Given the description of an element on the screen output the (x, y) to click on. 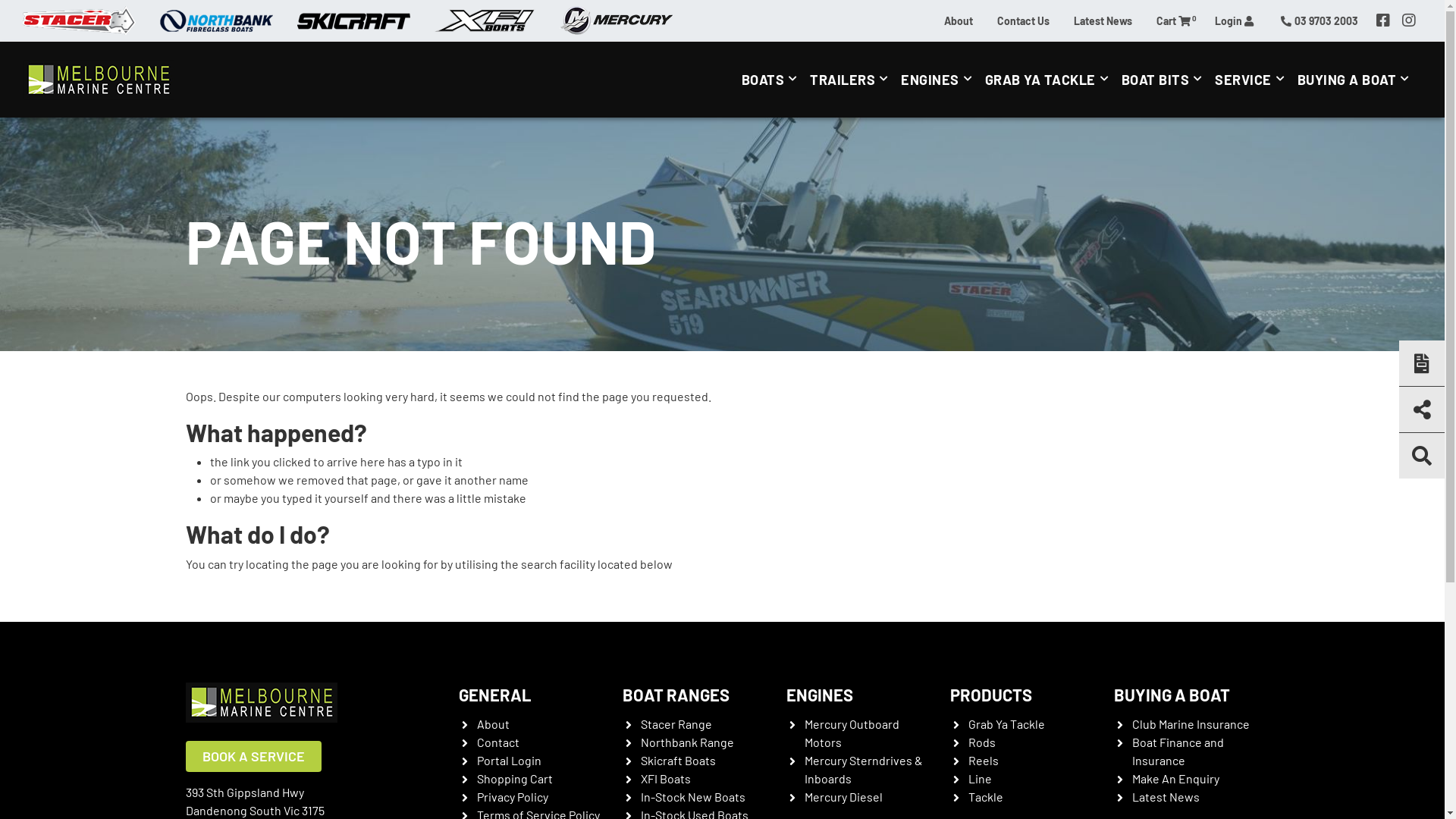
BOAT RANGES Element type: text (674, 694)
About Element type: text (492, 723)
Contact Us Element type: text (1023, 20)
BUYING A BOAT Element type: text (1356, 79)
Latest News Element type: text (1164, 796)
ENGINES Element type: text (818, 694)
Privacy Policy Element type: text (511, 796)
03 9703 2003 Element type: text (1319, 20)
Boat Finance and Insurance Element type: text (1177, 750)
GENERAL Element type: text (494, 694)
About Element type: text (958, 20)
Latest News Element type: text (1102, 20)
BOAT BITS Element type: text (1164, 79)
TRAILERS Element type: text (851, 79)
Shopping Cart Element type: text (514, 778)
Reels Element type: text (982, 760)
Tackle Element type: text (984, 796)
GRAB YA TACKLE Element type: text (1049, 79)
Mercury Diesel Element type: text (842, 796)
Grab Ya Tackle Element type: text (1005, 723)
BOATS Element type: text (772, 79)
Cart
0 Element type: text (1173, 20)
In-Stock New Boats Element type: text (692, 796)
Club Marine Insurance Element type: text (1189, 723)
Line Element type: text (979, 778)
Make An Enquiry Element type: text (1174, 778)
Mercury Outboard Motors Element type: text (850, 732)
Stacer Range Element type: text (675, 723)
BUYING A BOAT Element type: text (1171, 694)
PRODUCTS Element type: text (990, 694)
Contact Element type: text (497, 741)
Portal Login Element type: text (508, 760)
Login Element type: text (1233, 19)
Northbank Range Element type: text (686, 741)
Follow our page on Facebook! Element type: hover (1383, 20)
ENGINES Element type: text (938, 79)
Skicraft Boats Element type: text (677, 760)
BOOK A SERVICE Element type: text (252, 755)
SERVICE Element type: text (1251, 79)
Rods Element type: text (980, 741)
Mercury Sterndrives & Inboards Element type: text (862, 769)
XFI Boats Element type: text (665, 778)
